Given the description of an element on the screen output the (x, y) to click on. 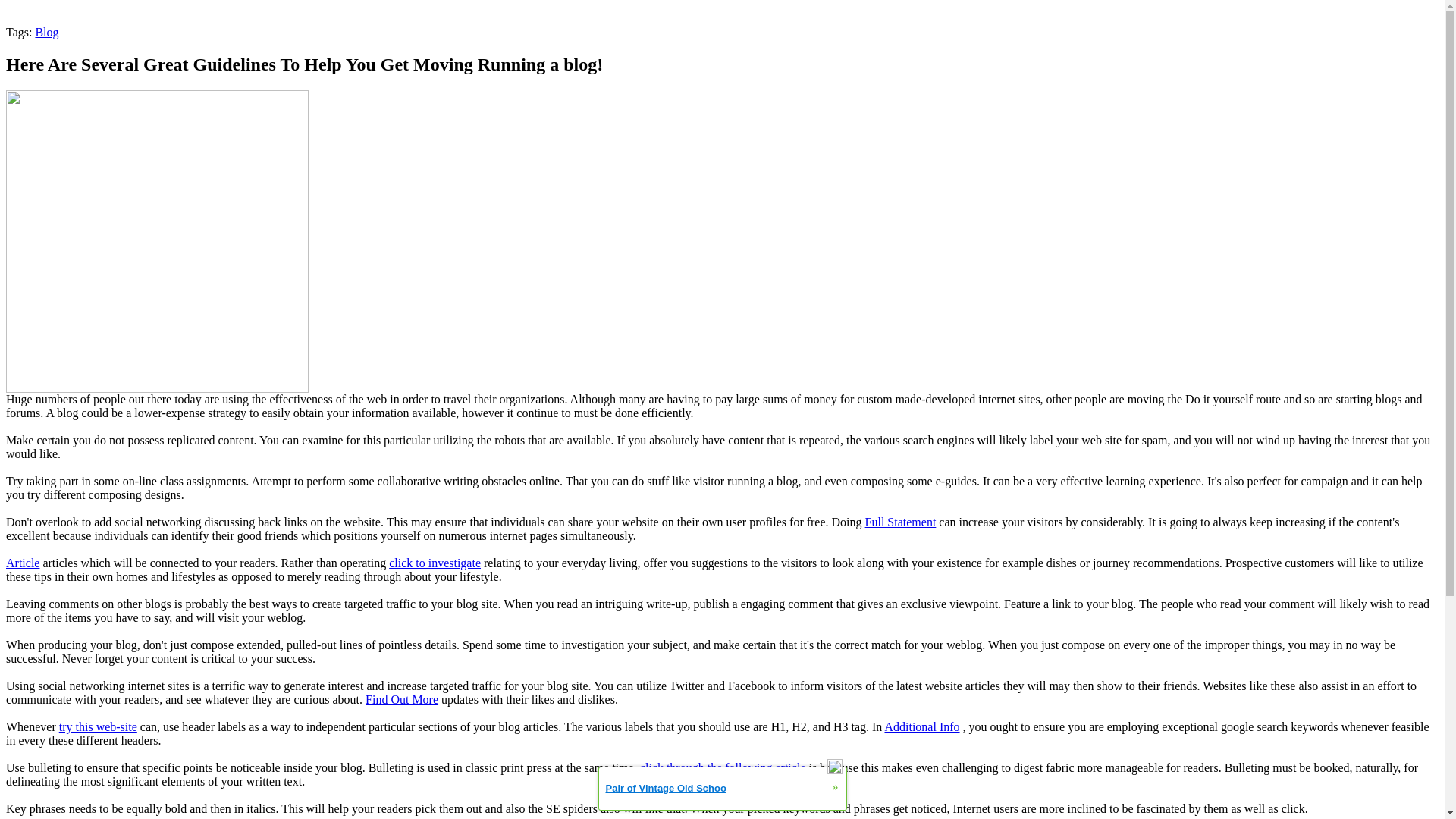
click through the following article (723, 767)
Additional Info (921, 726)
click to investigate (434, 562)
Blog (46, 31)
Article (22, 562)
Full Statement (900, 521)
Find Out More (401, 698)
try this web-site (97, 726)
